Given the description of an element on the screen output the (x, y) to click on. 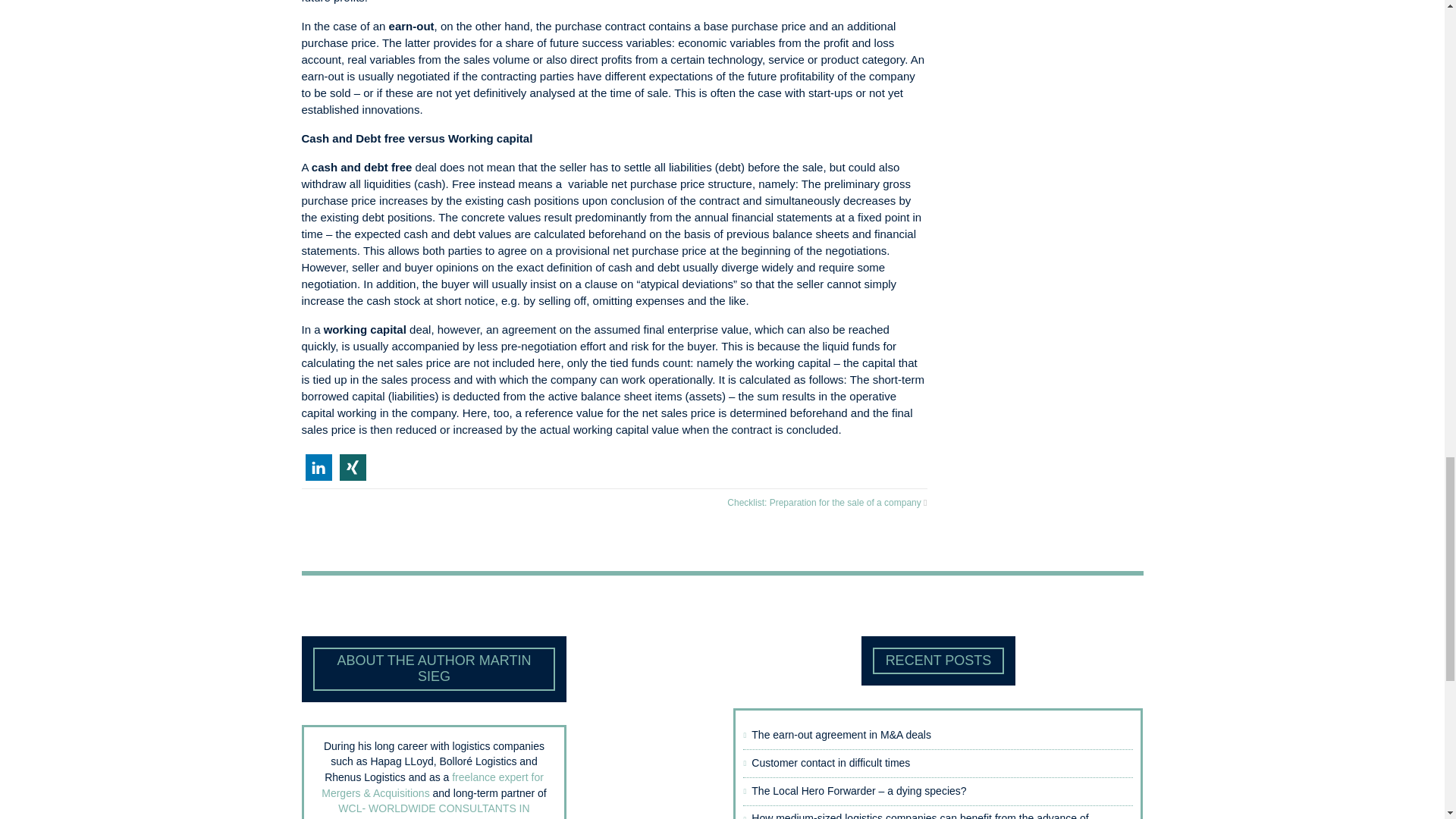
Martin Sieg (450, 818)
Bei XING teilen (352, 467)
Checklist: Preparation for the sale of a company (823, 502)
Bei LinkedIn teilen (317, 467)
Customer contact in difficult times (926, 763)
WCL- WORLDWIDE CONSULTANTS IN LOGISTICS GMBH (427, 810)
